Given the description of an element on the screen output the (x, y) to click on. 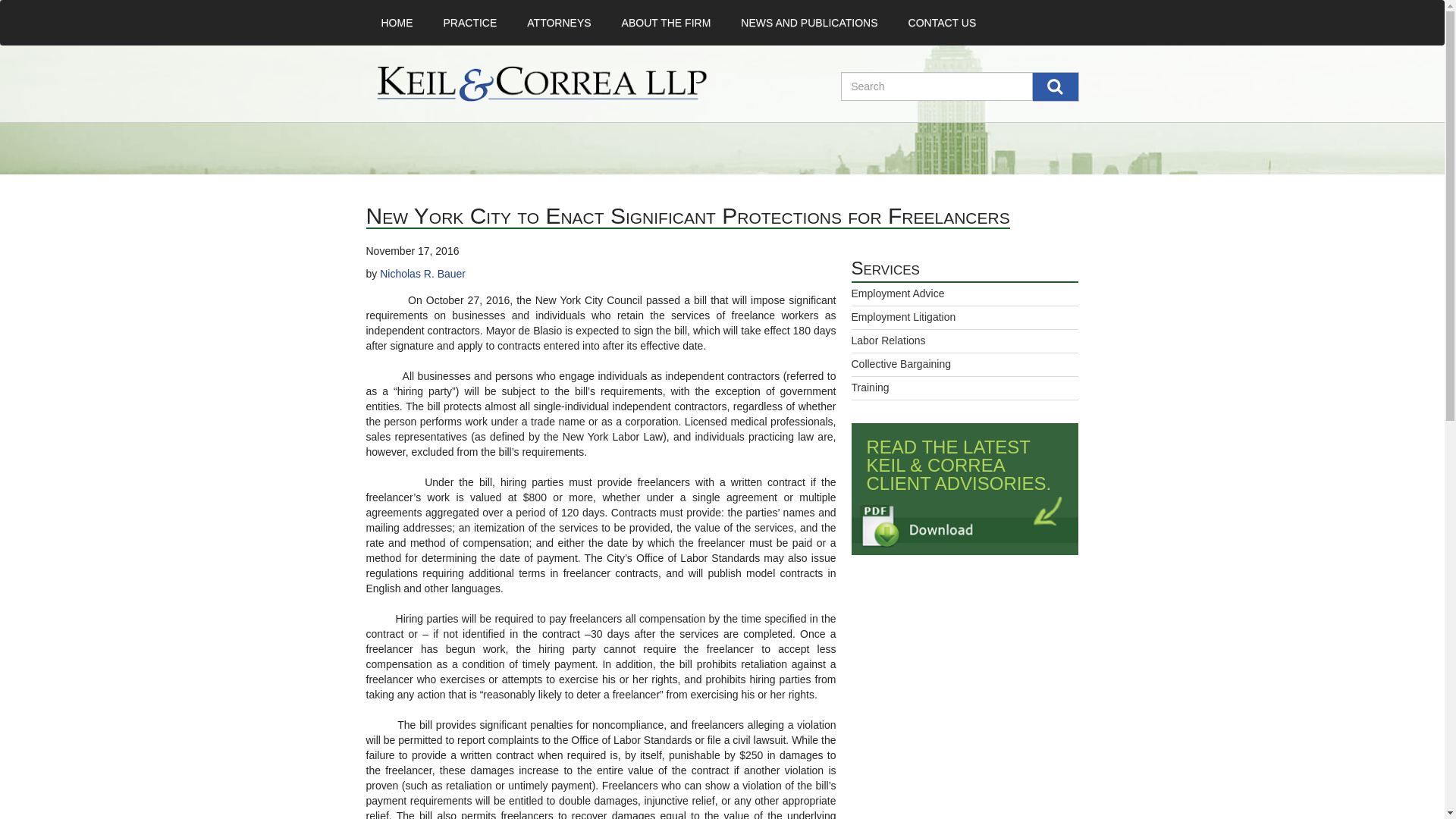
ATTORNEYS (558, 22)
Collective Bargaining (900, 363)
PRACTICE (470, 22)
Nicholas R. Bauer (422, 273)
HOME (396, 22)
Training (869, 387)
Employment Advice (896, 293)
Employment Litigation (902, 316)
NEWS AND PUBLICATIONS (808, 22)
Labor Relations (887, 340)
ABOUT THE FIRM (666, 22)
CONTACT US (942, 22)
